Given the description of an element on the screen output the (x, y) to click on. 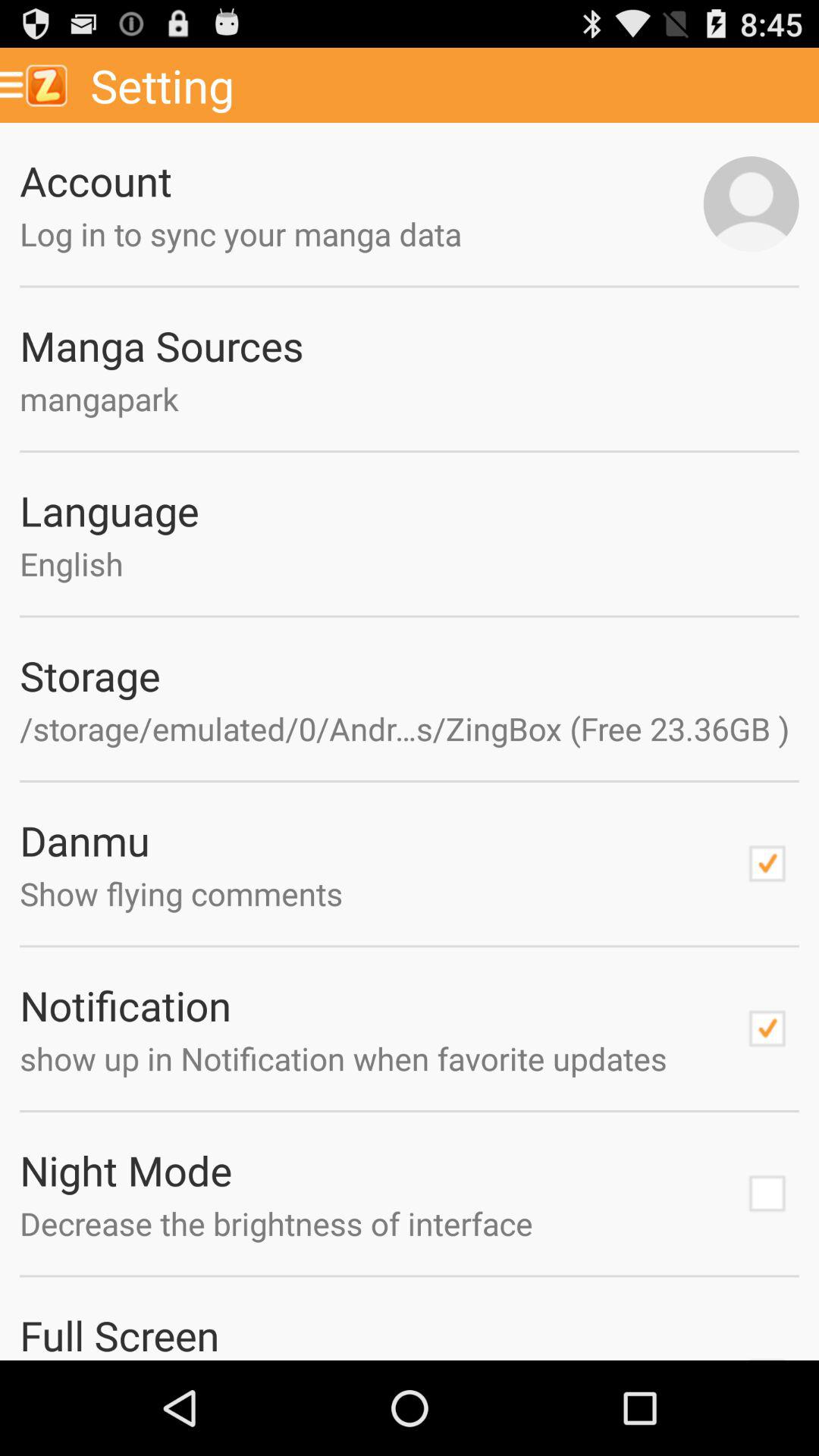
switch to full screen mode (767, 1352)
